Given the description of an element on the screen output the (x, y) to click on. 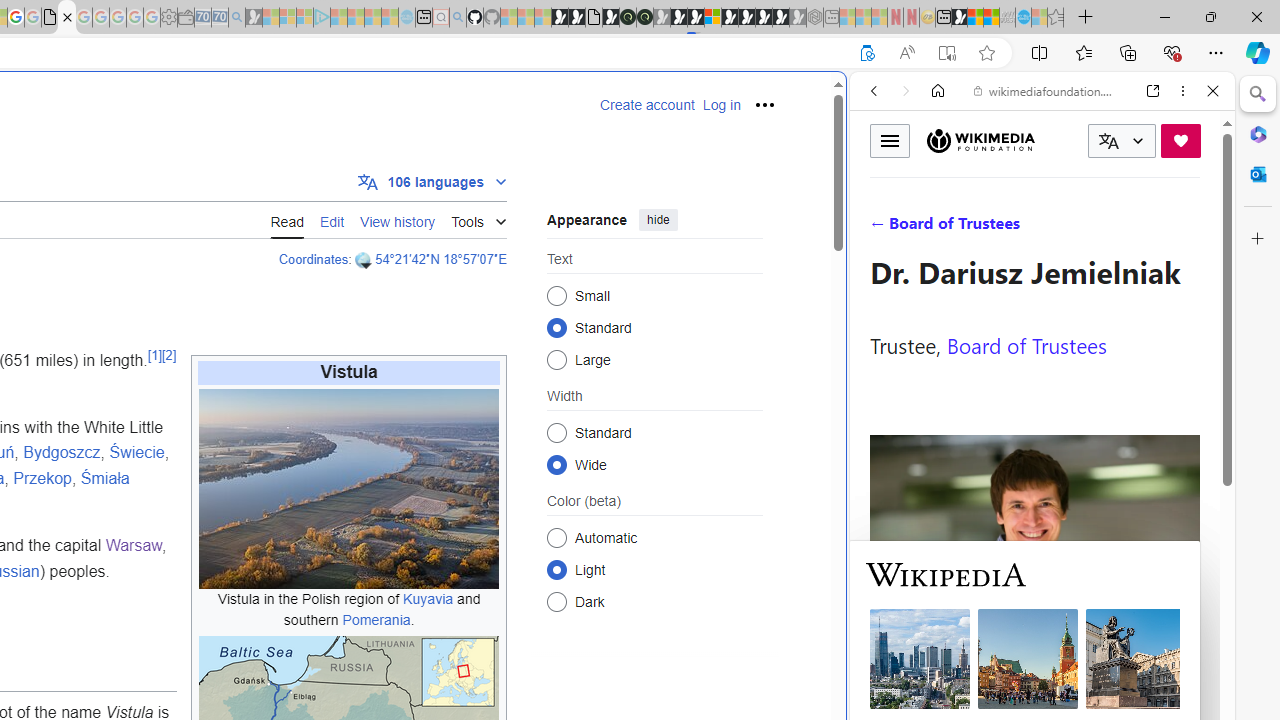
Kuyavia (428, 597)
WEB   (882, 228)
Vistula - Wikipedia (66, 17)
Pomerania (375, 619)
Warsaw (133, 546)
Play Cave FRVR in your browser | Games from Microsoft Start (678, 17)
Home | Sky Blue Bikes - Sky Blue Bikes (687, 426)
Home | Sky Blue Bikes - Sky Blue Bikes - Sleeping (406, 17)
hide (658, 219)
